Given the description of an element on the screen output the (x, y) to click on. 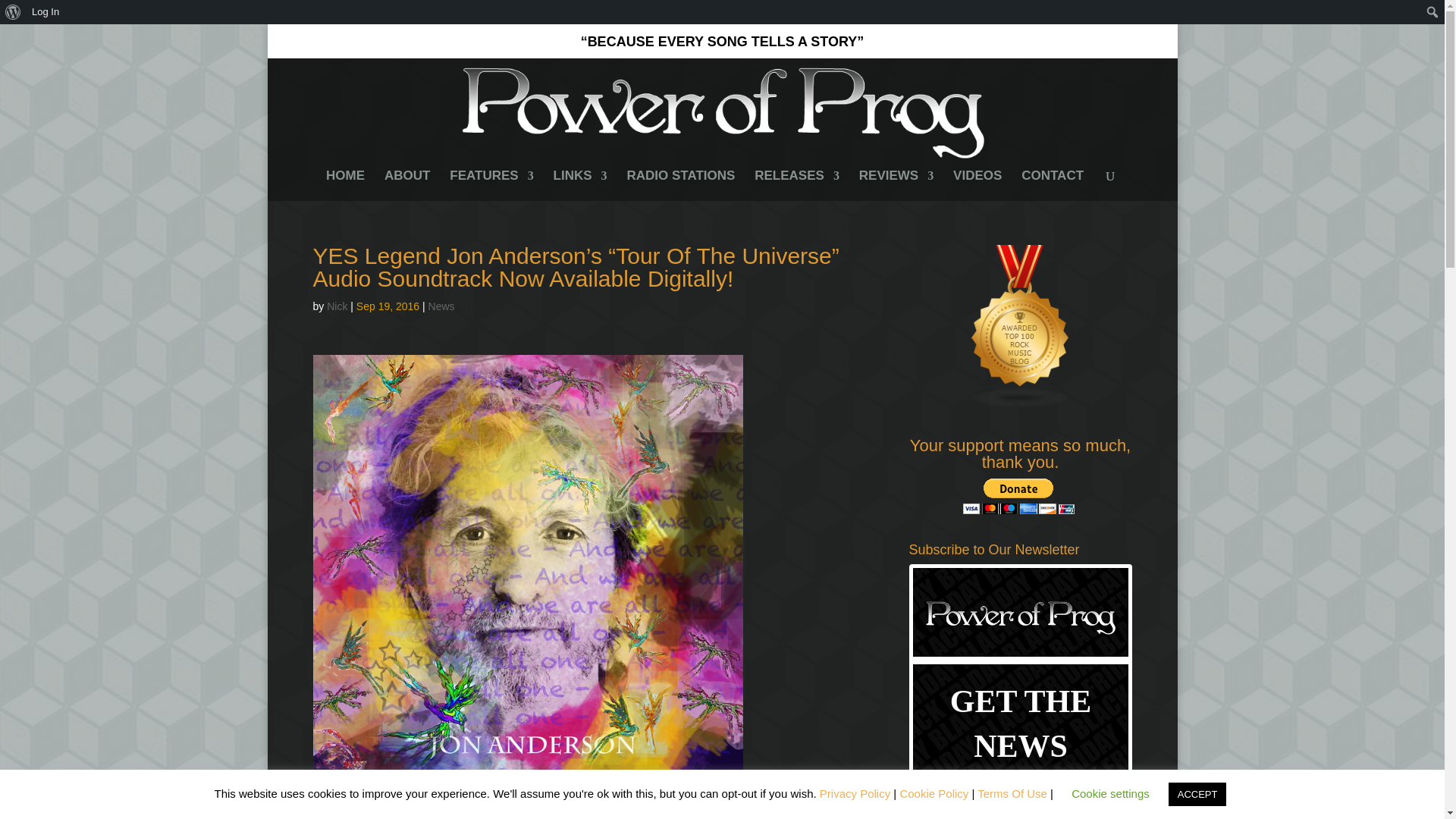
Log In (45, 12)
Rock Music blogs (1020, 404)
Search (16, 13)
HOME (345, 185)
RADIO STATIONS (680, 185)
RELEASES (797, 185)
CONTACT (1052, 185)
VIDEOS (977, 185)
Posts by Nick (336, 306)
LINKS (580, 185)
ABOUT (406, 185)
REVIEWS (896, 185)
FEATURES (490, 185)
